Given the description of an element on the screen output the (x, y) to click on. 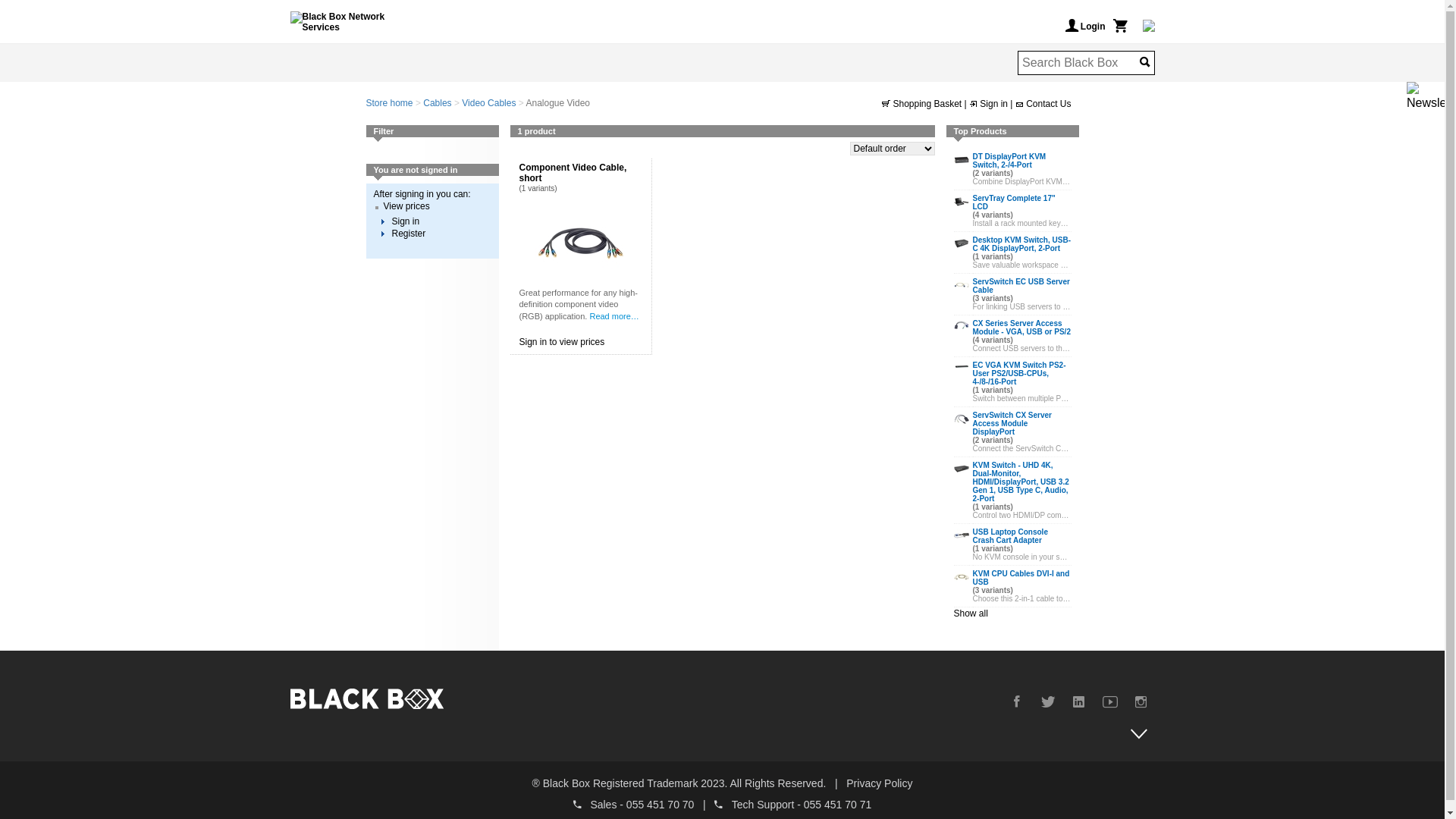
Desktop KVM Switch, USB-C 4K DisplayPort, 2-Port Element type: hover (961, 243)
KVM CPU Cables DVI-I and USB Element type: hover (961, 576)
DT DisplayPort KVM Switch, 2-/4-Port Element type: hover (961, 159)
Sign in Element type: text (405, 221)
Show all Element type: text (970, 613)
055 451 70 70 Element type: text (660, 804)
CX Series Server Access Module - VGA, USB or PS/2 Element type: hover (961, 324)
ServTray Complete 17" LCD Element type: hover (961, 201)
Contact Us Element type: text (1043, 103)
Sign in Element type: text (989, 103)
Register Element type: text (408, 233)
Sign in to view prices Element type: text (561, 341)
055 451 70 71 Element type: text (837, 804)
Component Video Cable, short Element type: hover (580, 241)
ServSwitch EC USB Server Cable Element type: hover (961, 284)
Shopping Basket Element type: text (922, 103)
Cables Element type: text (437, 102)
EC VGA KVM Switch PS2-User PS2/USB-CPUs, 4-/8-/16-Port Element type: hover (961, 366)
Privacy Policy Element type: text (879, 783)
Video Cables Element type: text (488, 102)
ServSwitch CX Server Access Module  DisplayPort Element type: hover (961, 418)
Login Element type: text (1084, 25)
USB Laptop Console Crash Cart Adapter Element type: hover (961, 534)
Store home Element type: text (388, 102)
